Given the description of an element on the screen output the (x, y) to click on. 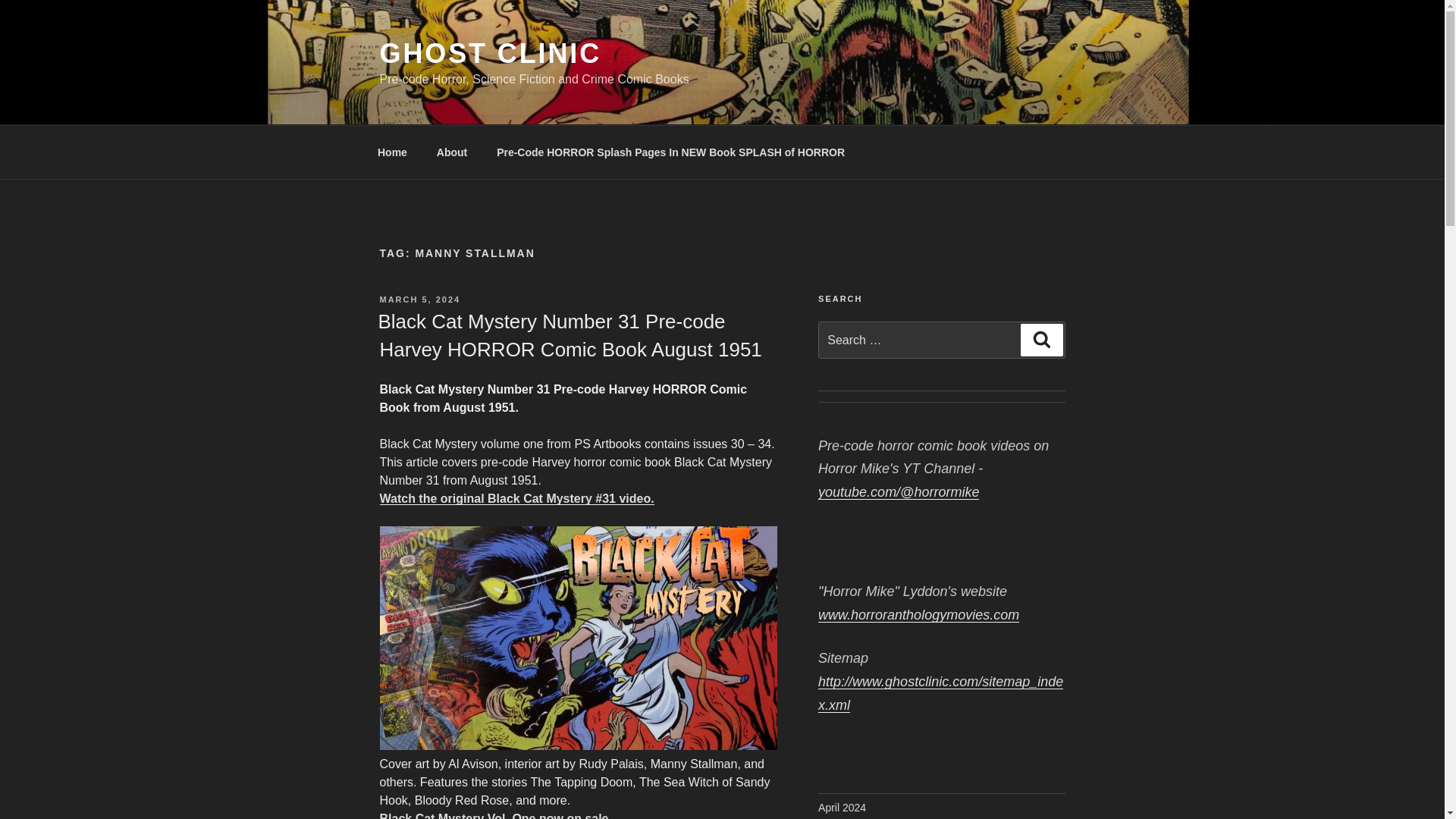
GHOST CLINIC (489, 52)
MARCH 5, 2024 (419, 298)
About (451, 151)
Home (392, 151)
Search (1041, 339)
www.horroranthologymovies.com (918, 614)
Black Cat Mystery Vol. One now on sale.  (496, 815)
Pre-Code HORROR Splash Pages In NEW Book SPLASH of HORROR (671, 151)
April 2024 (842, 807)
